Given the description of an element on the screen output the (x, y) to click on. 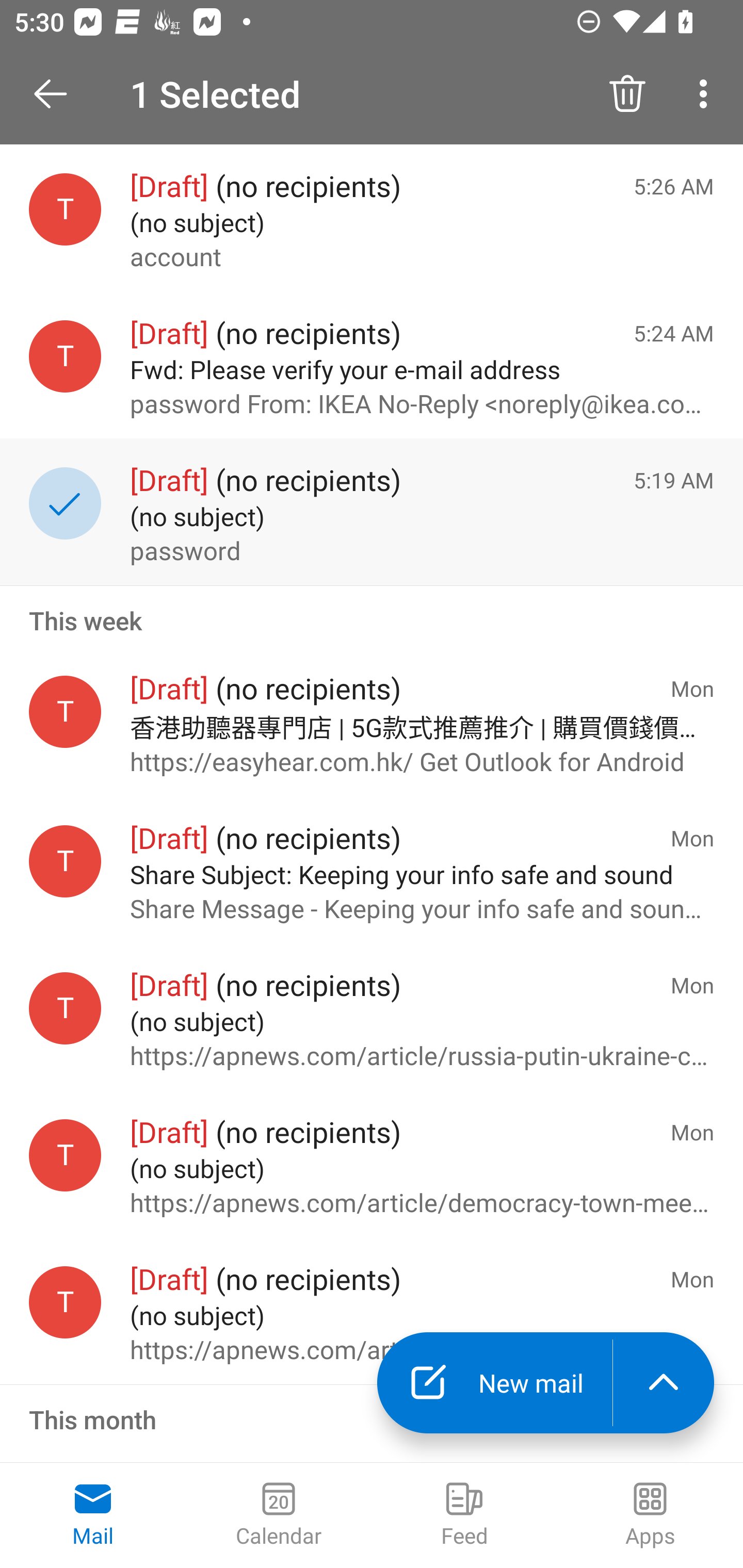
Delete (626, 93)
More options (706, 93)
Open Navigation Drawer (57, 94)
testappium002@outlook.com (64, 210)
testappium002@outlook.com (64, 355)
testappium002@outlook.com (64, 711)
testappium002@outlook.com (64, 860)
testappium002@outlook.com (64, 1008)
testappium002@outlook.com (64, 1155)
testappium002@outlook.com (64, 1302)
New mail (494, 1382)
launch the extended action menu (663, 1382)
Calendar (278, 1515)
Feed (464, 1515)
Apps (650, 1515)
